Given the description of an element on the screen output the (x, y) to click on. 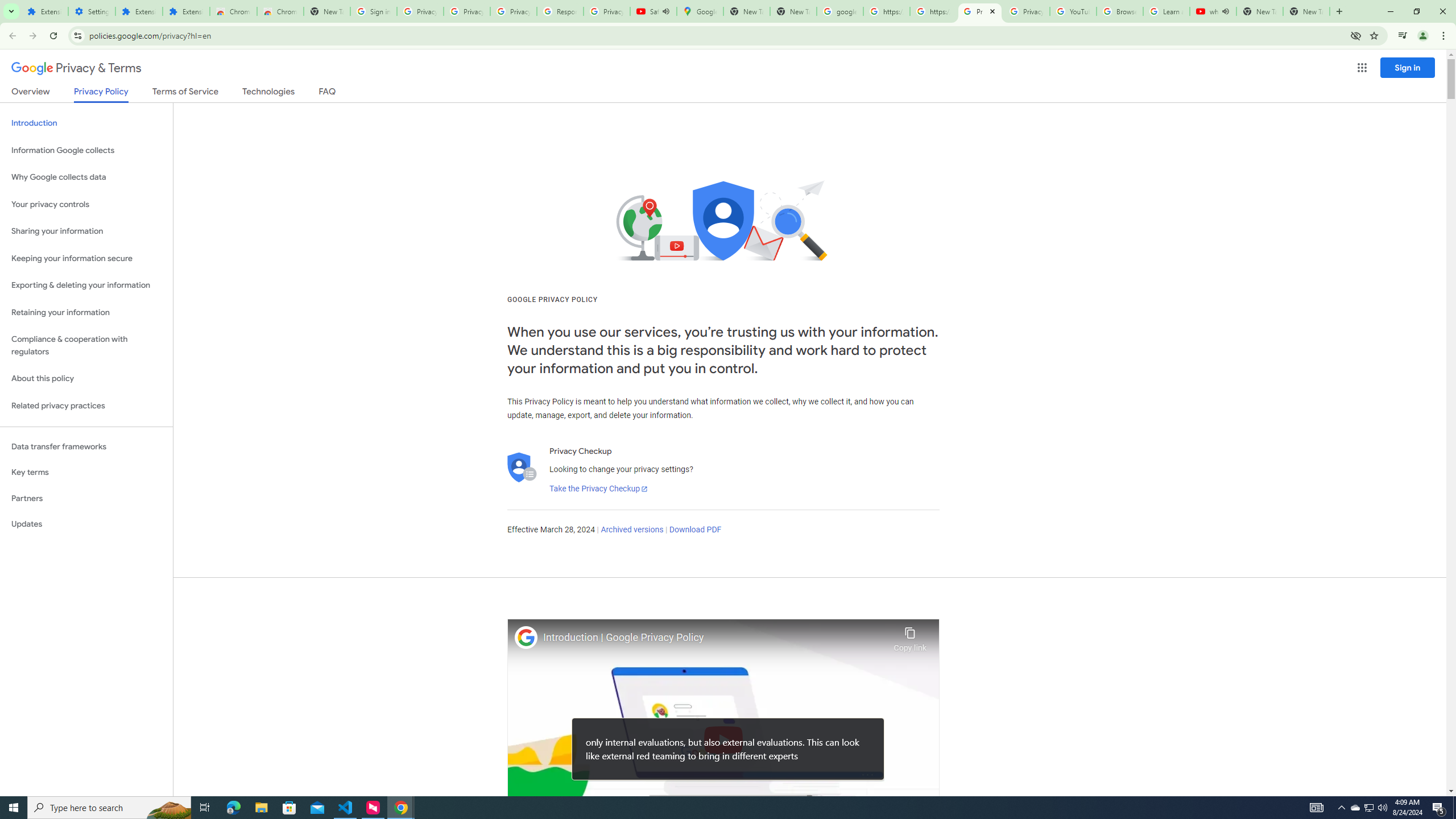
Key terms (86, 472)
About this policy (86, 379)
Why Google collects data (86, 176)
Photo image of Google (526, 636)
Information Google collects (86, 150)
Take the Privacy Checkup (597, 488)
Data transfer frameworks (86, 446)
Related privacy practices (86, 405)
Chrome Web Store - Themes (279, 11)
Retaining your information (86, 312)
Google Maps (699, 11)
